Given the description of an element on the screen output the (x, y) to click on. 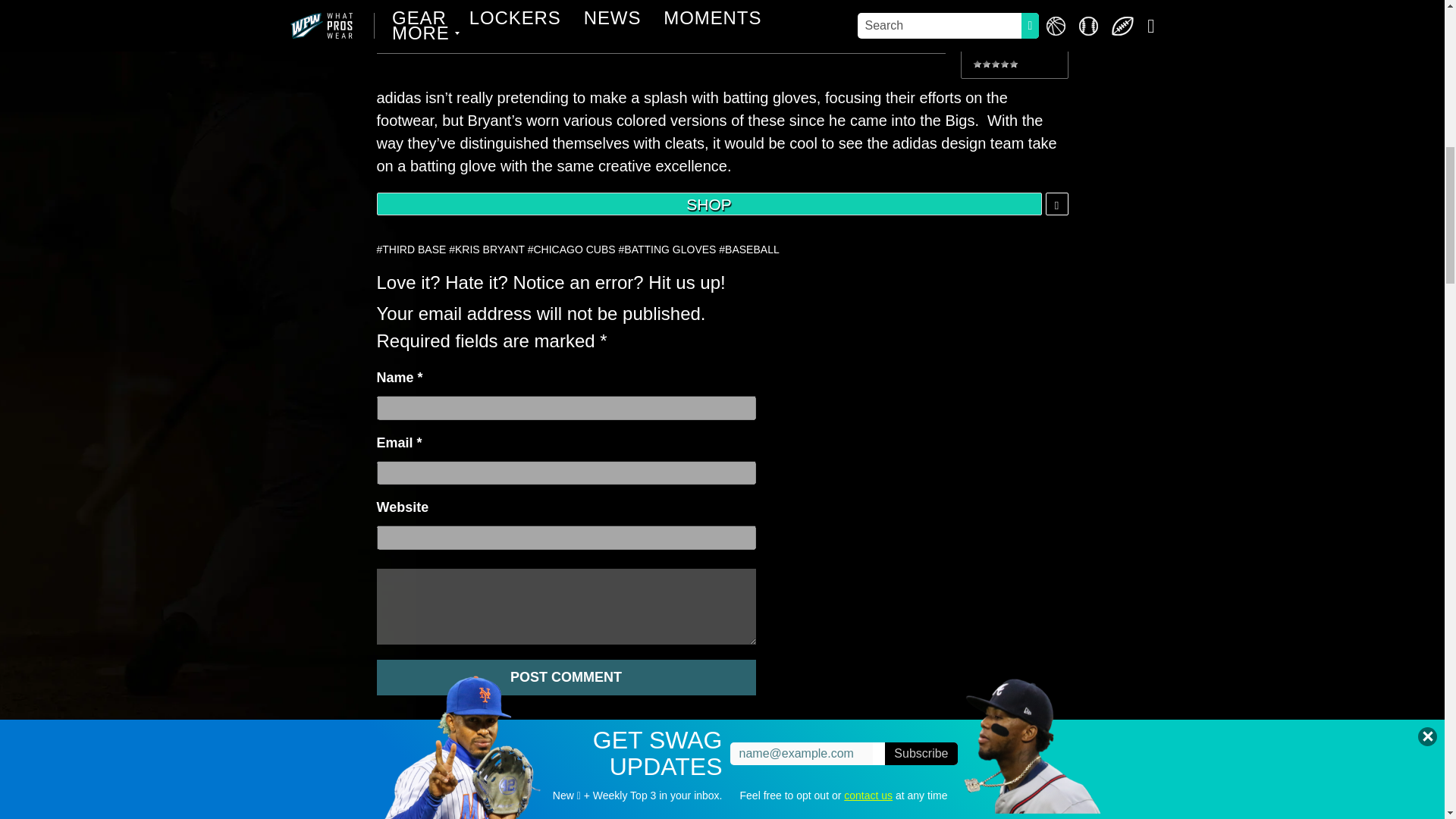
Post Comment (565, 677)
